Given the description of an element on the screen output the (x, y) to click on. 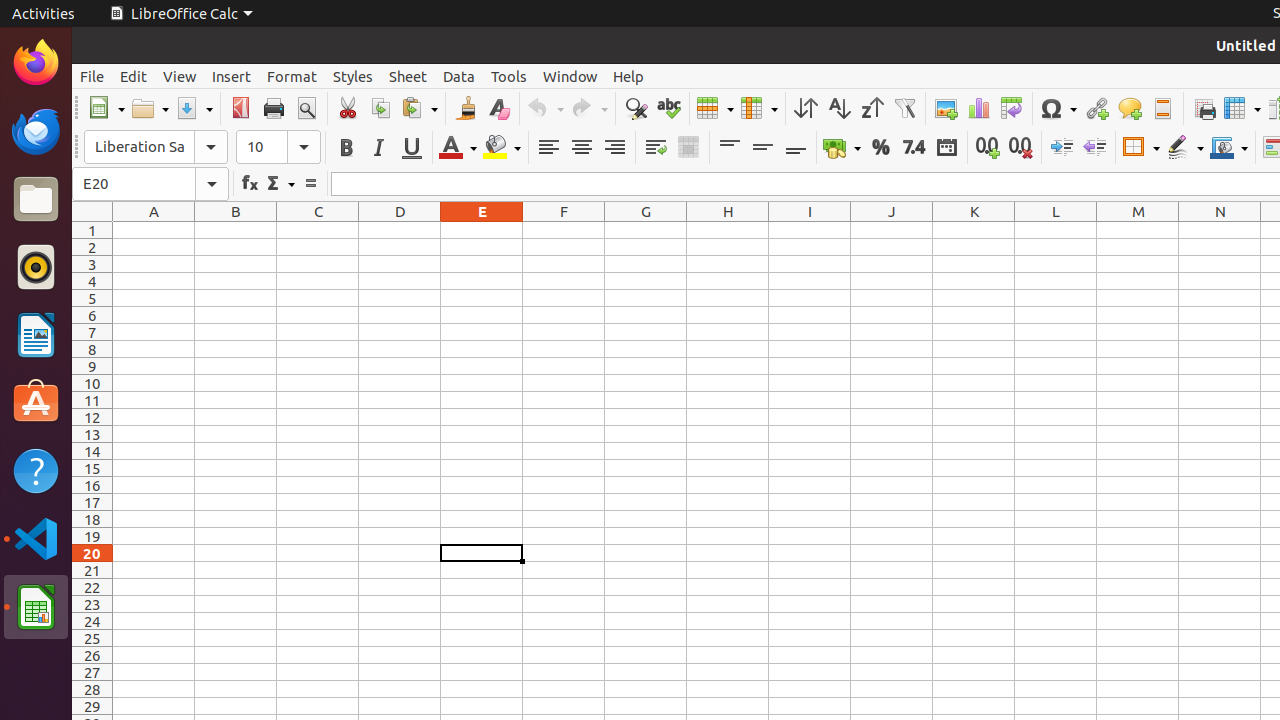
Font Name Element type: combo-box (156, 147)
Freeze Rows and Columns Element type: push-button (1242, 108)
Borders (Shift to overwrite) Element type: push-button (1141, 147)
L1 Element type: table-cell (1056, 230)
Function Wizard Element type: push-button (249, 183)
